Given the description of an element on the screen output the (x, y) to click on. 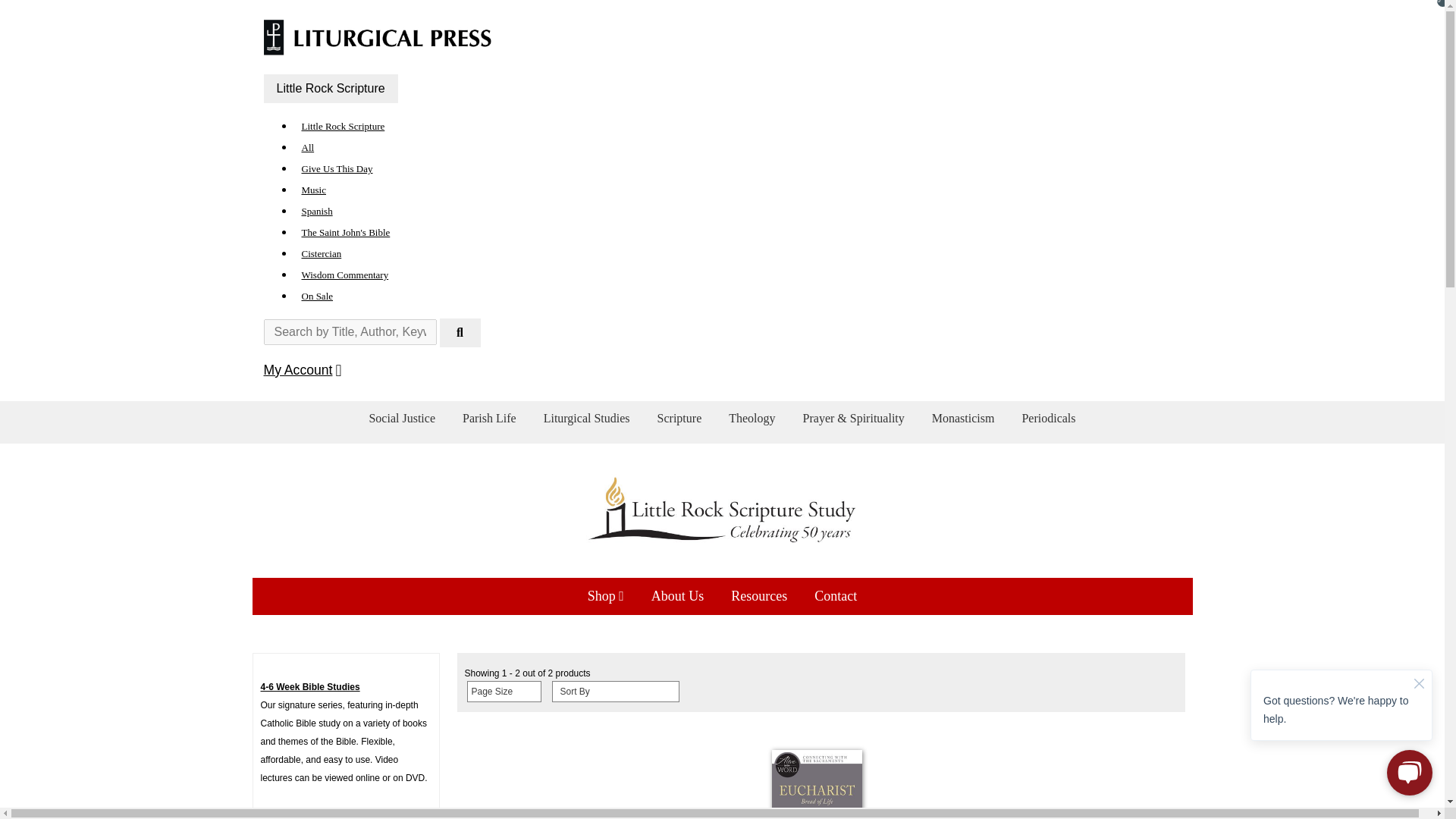
Chat Widget (1341, 723)
